Given the description of an element on the screen output the (x, y) to click on. 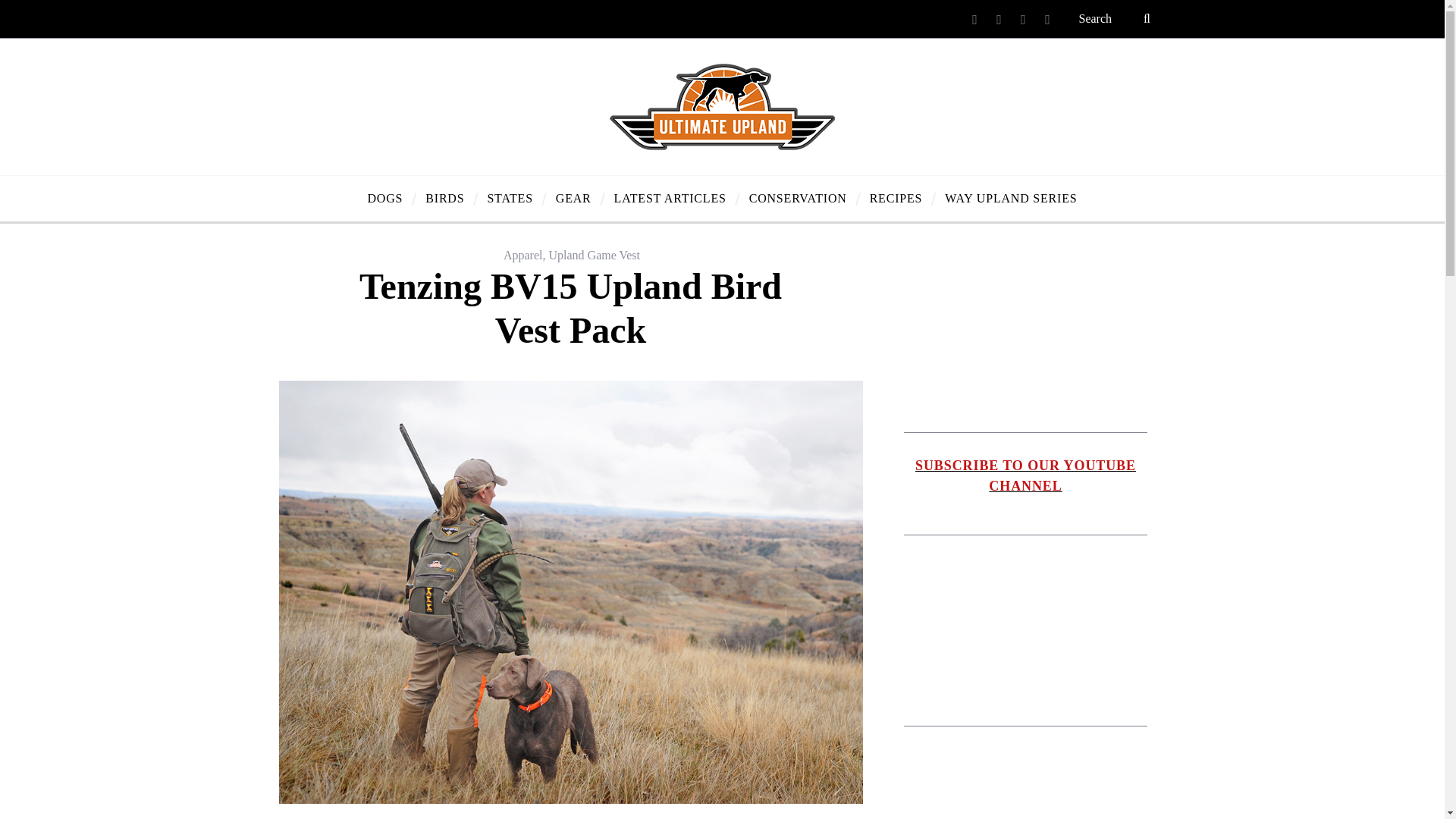
Search (1116, 18)
